Given the description of an element on the screen output the (x, y) to click on. 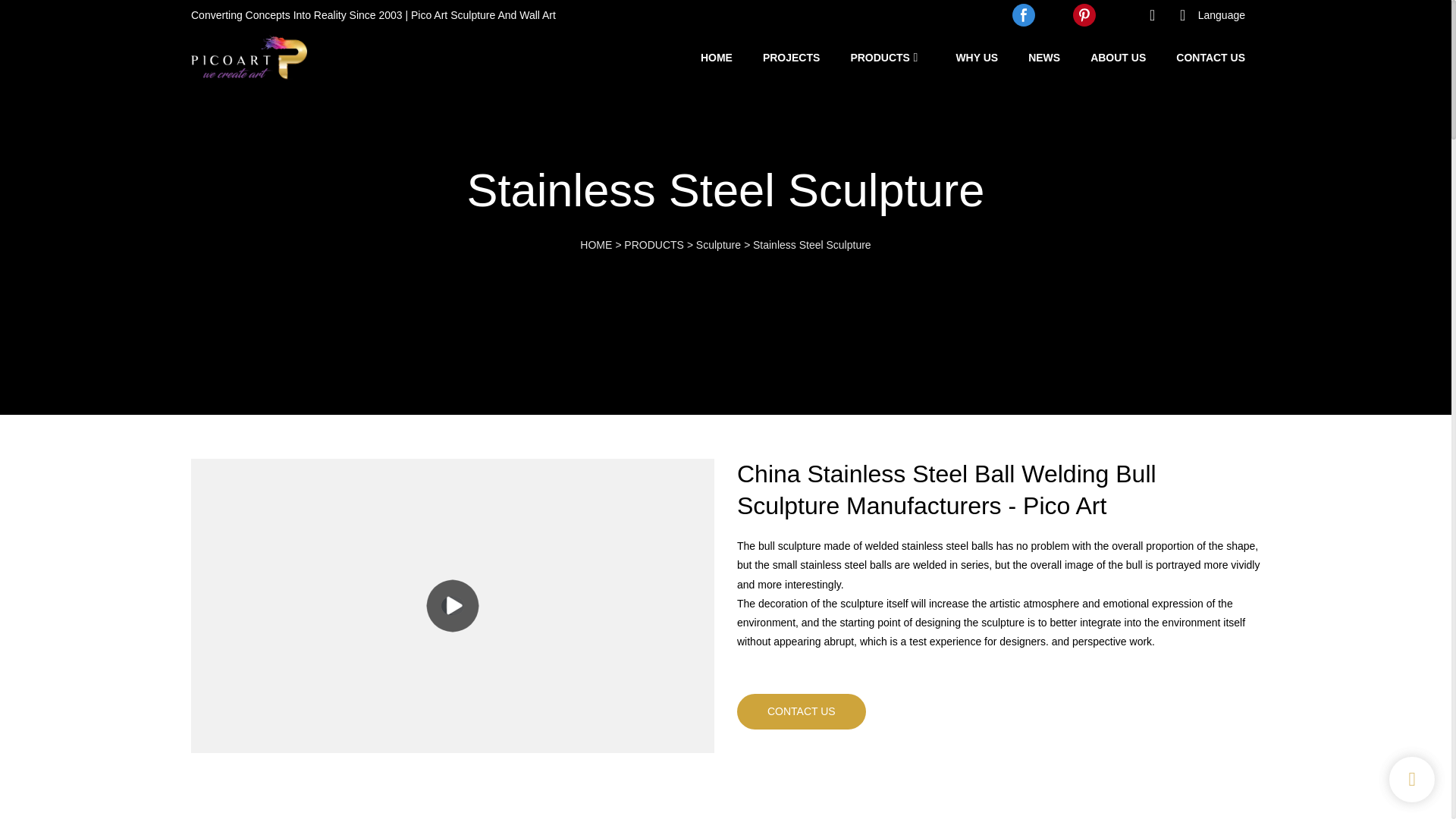
PRODUCTS (654, 244)
HOME (716, 57)
WHY US (976, 57)
pinterest (1083, 15)
Sculpture (718, 244)
Stainless Steel Sculpture (811, 244)
PROJECTS (790, 57)
PRODUCTS (880, 57)
CONTACT US (1210, 57)
HOME (595, 244)
youtube (1053, 15)
facebook (1024, 15)
ABOUT US (1117, 57)
NEWS (1043, 57)
